Given the description of an element on the screen output the (x, y) to click on. 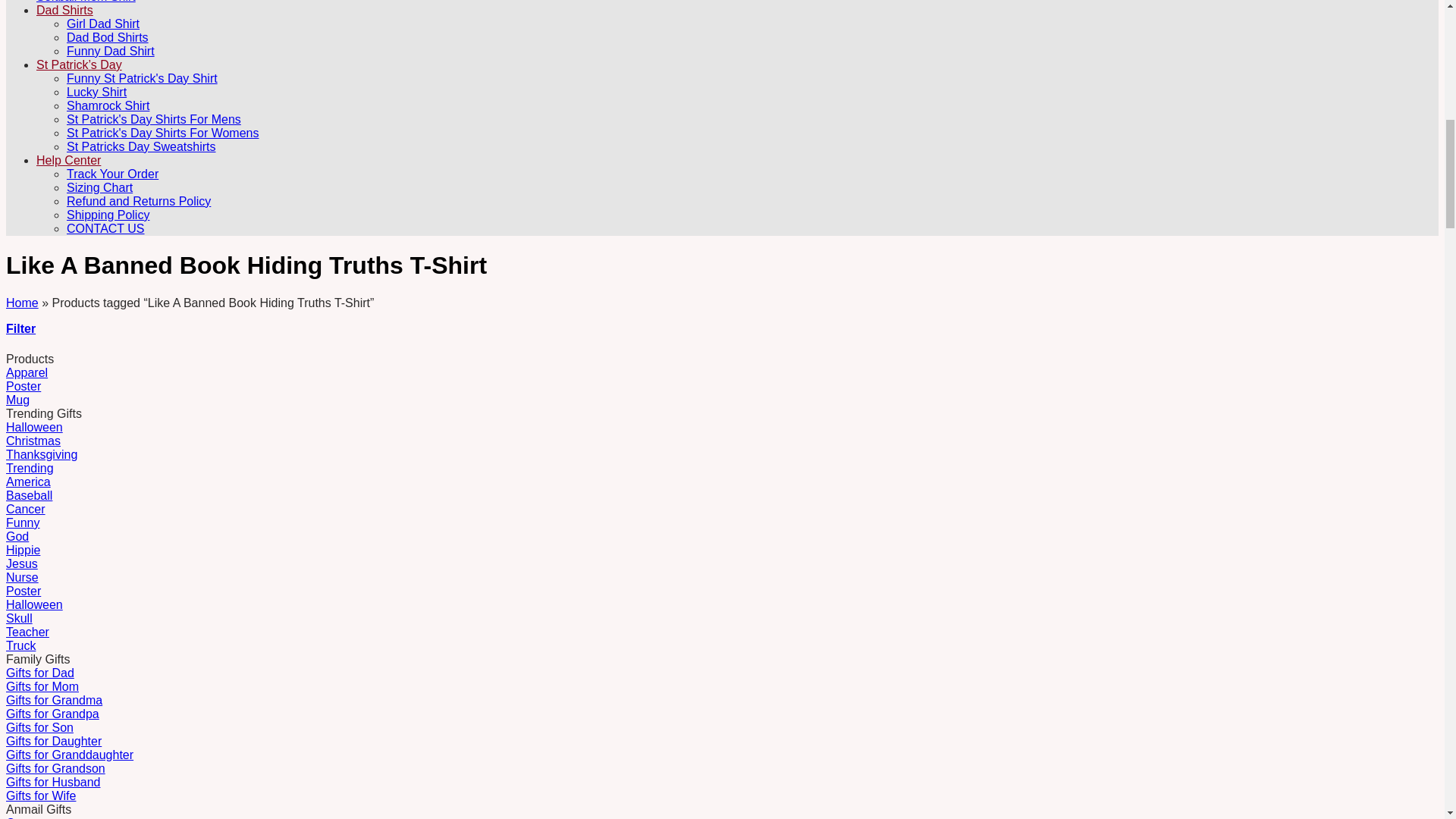
Softball Mom Shirt (85, 1)
